Given the description of an element on the screen output the (x, y) to click on. 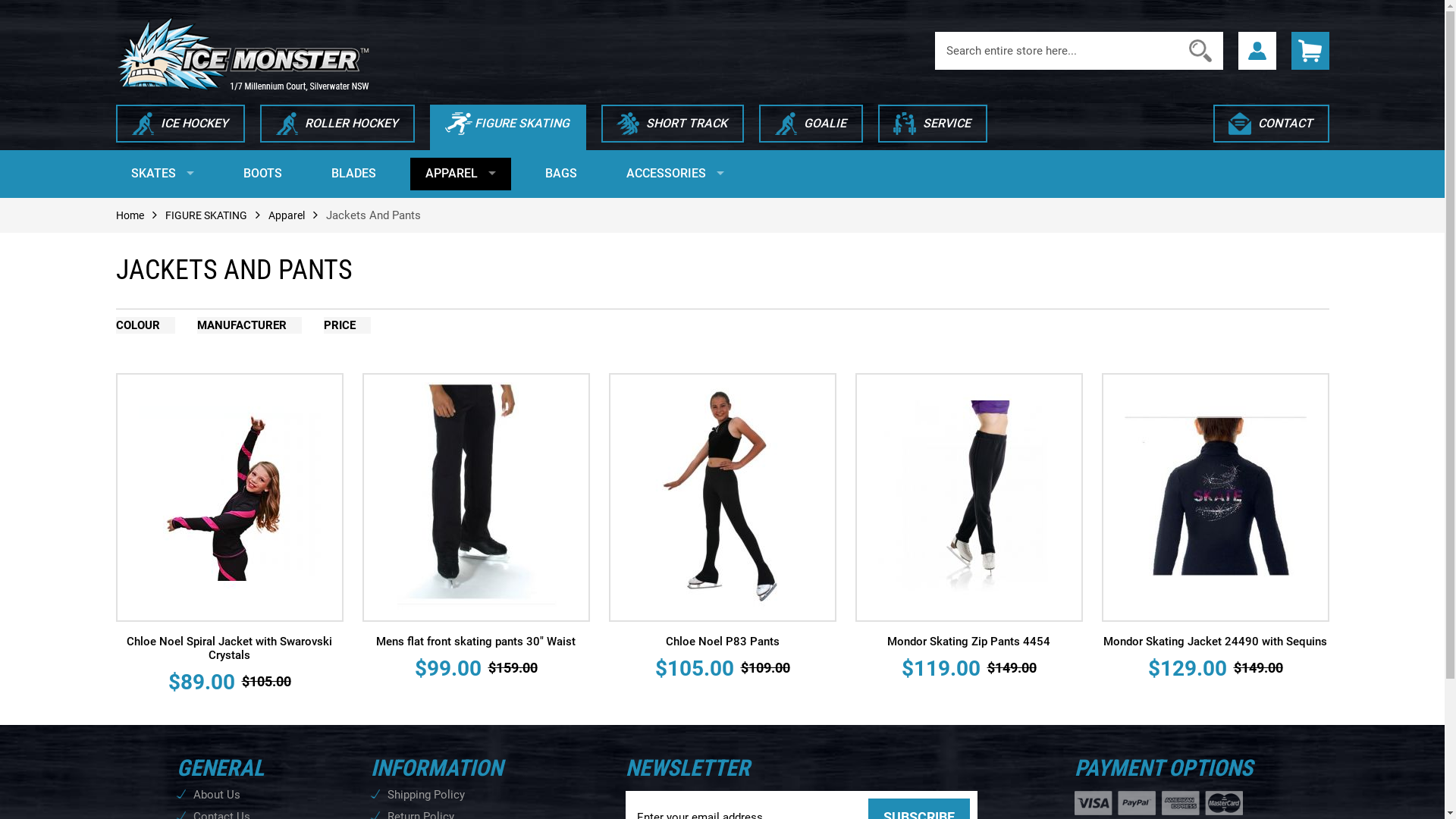
Click to show/hide children Element type: hover (491, 174)
SHORT TRACK Element type: text (671, 127)
SKATES Element type: text (161, 173)
BOOTS Element type: text (261, 173)
ICE HOCKEY Element type: text (179, 127)
Mondor Skating Jacket 24490 with Sequins Element type: text (1215, 641)
BAGS Element type: text (560, 173)
FIGURE SKATING Element type: text (507, 127)
Mens flat front skating pants 30" Waist Element type: text (475, 641)
Mondor Skating Zip Pants 4454 Element type: text (968, 641)
Chloe Noel Spiral Jacket with Swarovski Crystals Element type: text (229, 648)
About Us Element type: text (260, 794)
GOALIE Element type: text (810, 127)
Click to show/hide children Element type: hover (190, 174)
BLADES Element type: text (352, 173)
Home Element type: text (129, 215)
Shipping Policy Element type: text (485, 794)
FIGURE SKATING Element type: text (206, 215)
Ice Monster Element type: hover (241, 53)
Chloe Noel P83 Pants Element type: text (722, 641)
APPAREL Element type: text (459, 173)
Search Element type: hover (1200, 50)
SERVICE Element type: text (932, 127)
ROLLER HOCKEY Element type: text (336, 127)
Click to show/hide children Element type: hover (719, 174)
CONTACT Element type: text (1271, 127)
Apparel Element type: text (286, 215)
ACCESSORIES Element type: text (675, 173)
